Given the description of an element on the screen output the (x, y) to click on. 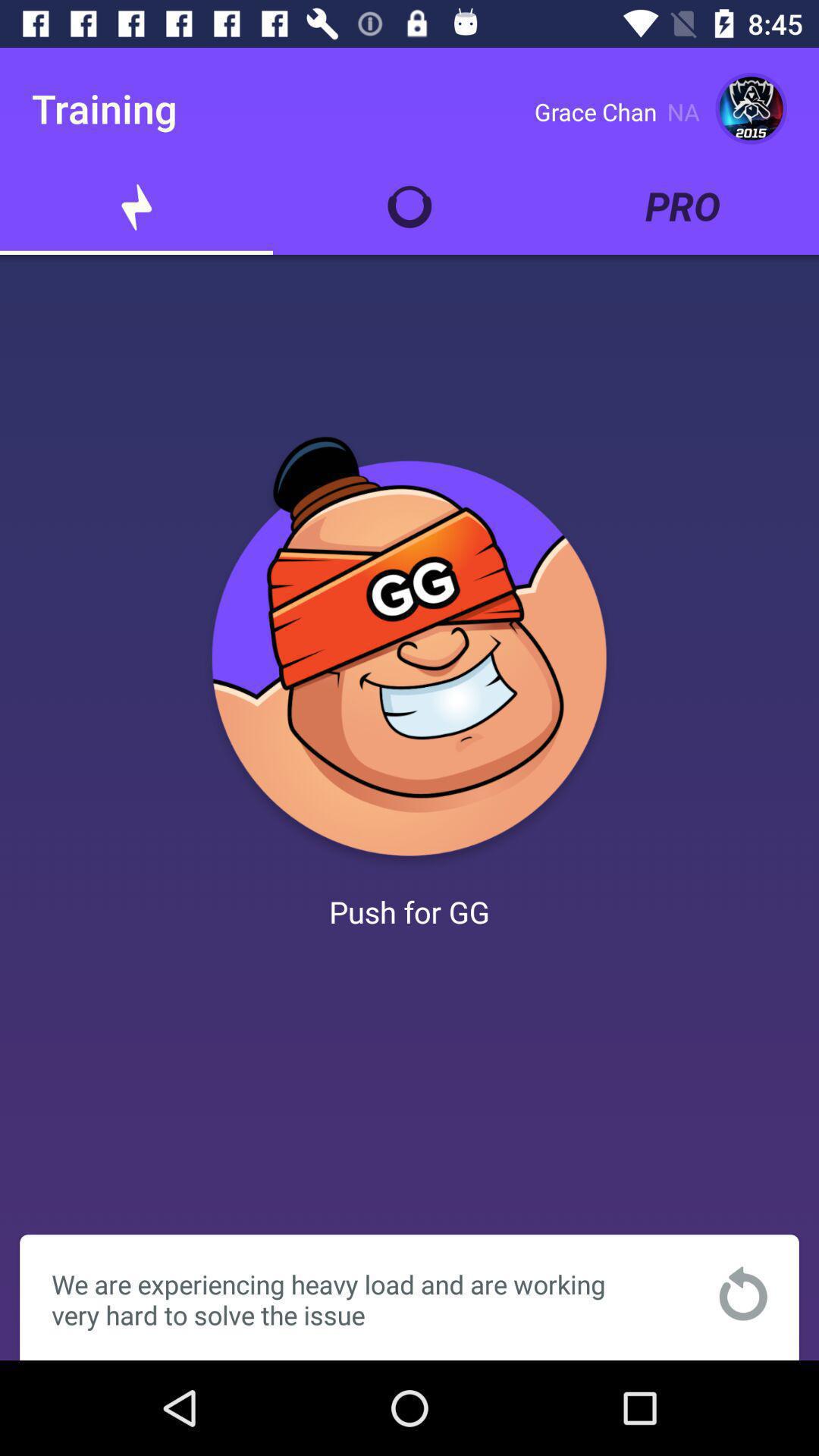
choose the item at the bottom right corner (743, 1293)
